Given the description of an element on the screen output the (x, y) to click on. 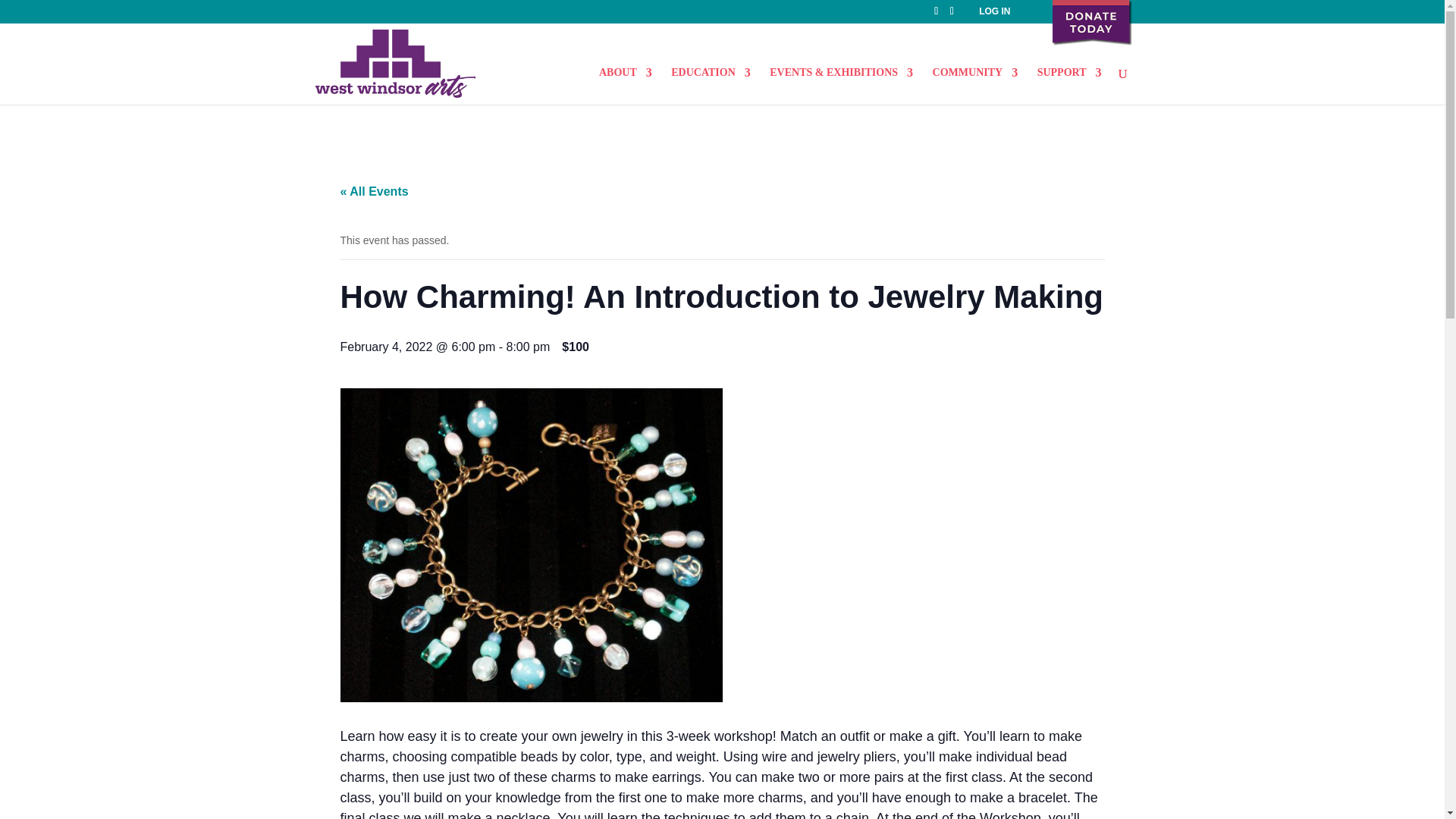
EDUCATION (711, 85)
COMMUNITY (975, 85)
ABOUT (625, 85)
How Charming! An Introduction to Jewelry Making 1 (530, 544)
SUPPORT (1069, 85)
LOG IN (994, 10)
